Given the description of an element on the screen output the (x, y) to click on. 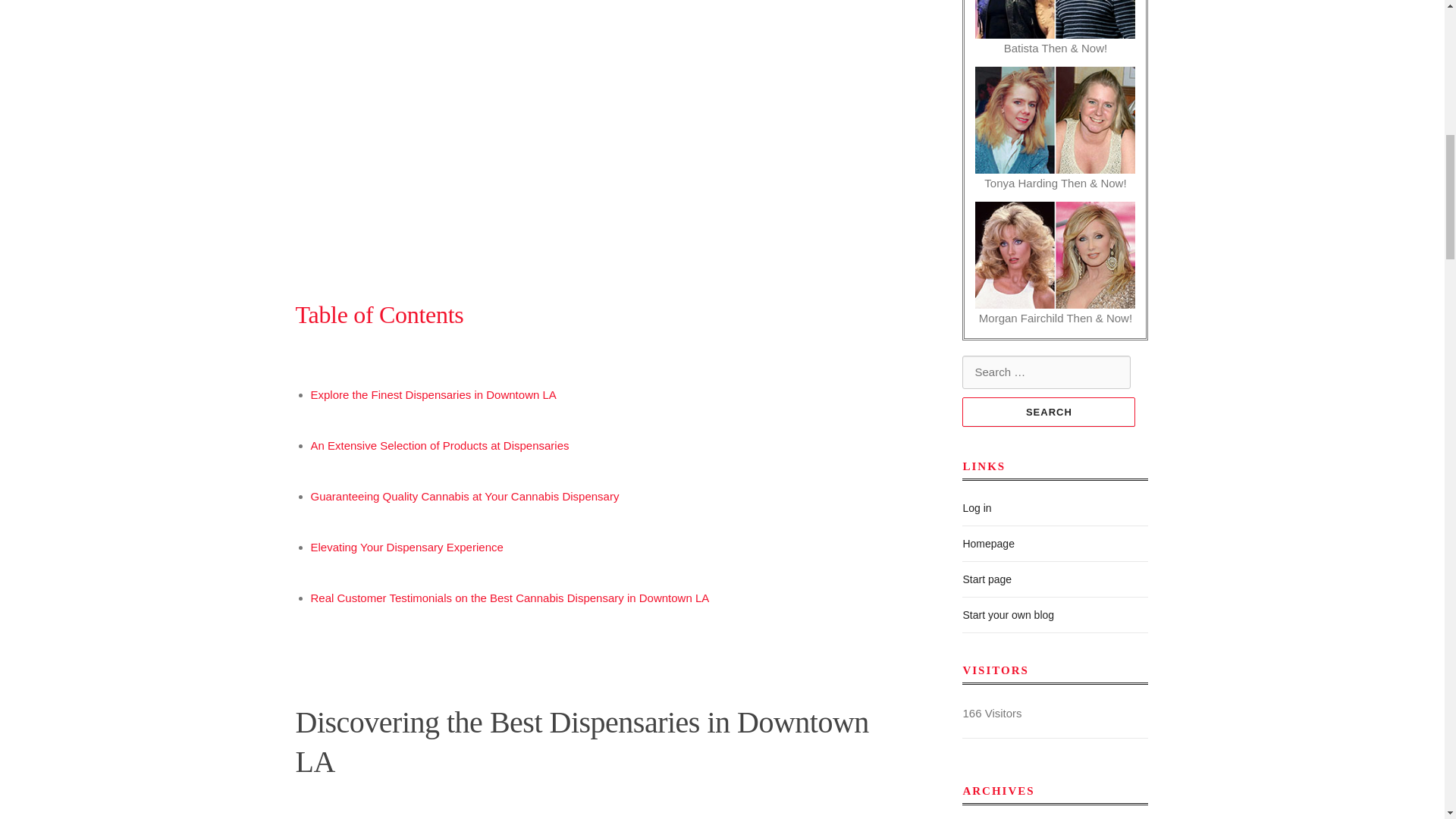
An Extensive Selection of Products at Dispensaries (440, 445)
Guaranteeing Quality Cannabis at Your Cannabis Dispensary (465, 495)
Search (1048, 411)
Search (1048, 411)
Explore the Finest Dispensaries in Downtown LA (433, 394)
Start page (986, 579)
Search (1048, 411)
Log in (976, 508)
Homepage (988, 543)
Start your own blog (1008, 614)
Elevating Your Dispensary Experience (407, 546)
